Given the description of an element on the screen output the (x, y) to click on. 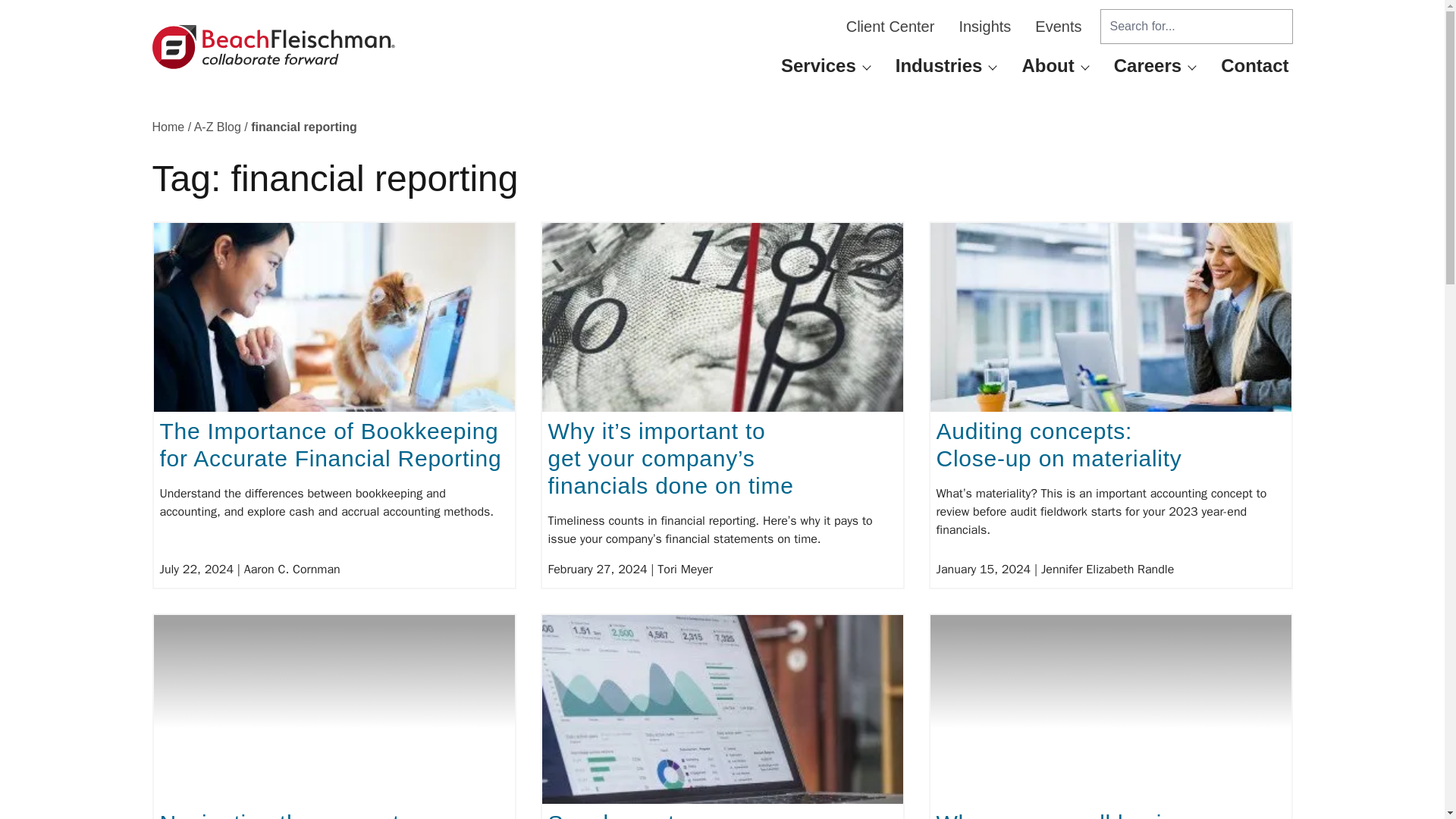
Industries (939, 65)
Go to A-Z Blog. (217, 126)
Go to BeachFleischman CPAs. (167, 126)
Posts by Jennifer Elizabeth Randle (1107, 569)
Posts by Tori Meyer (685, 569)
Posts by Aaron C. Cornman (292, 569)
About (1047, 65)
Services (818, 65)
Go to BeachFleischman's front page (272, 46)
